Given the description of an element on the screen output the (x, y) to click on. 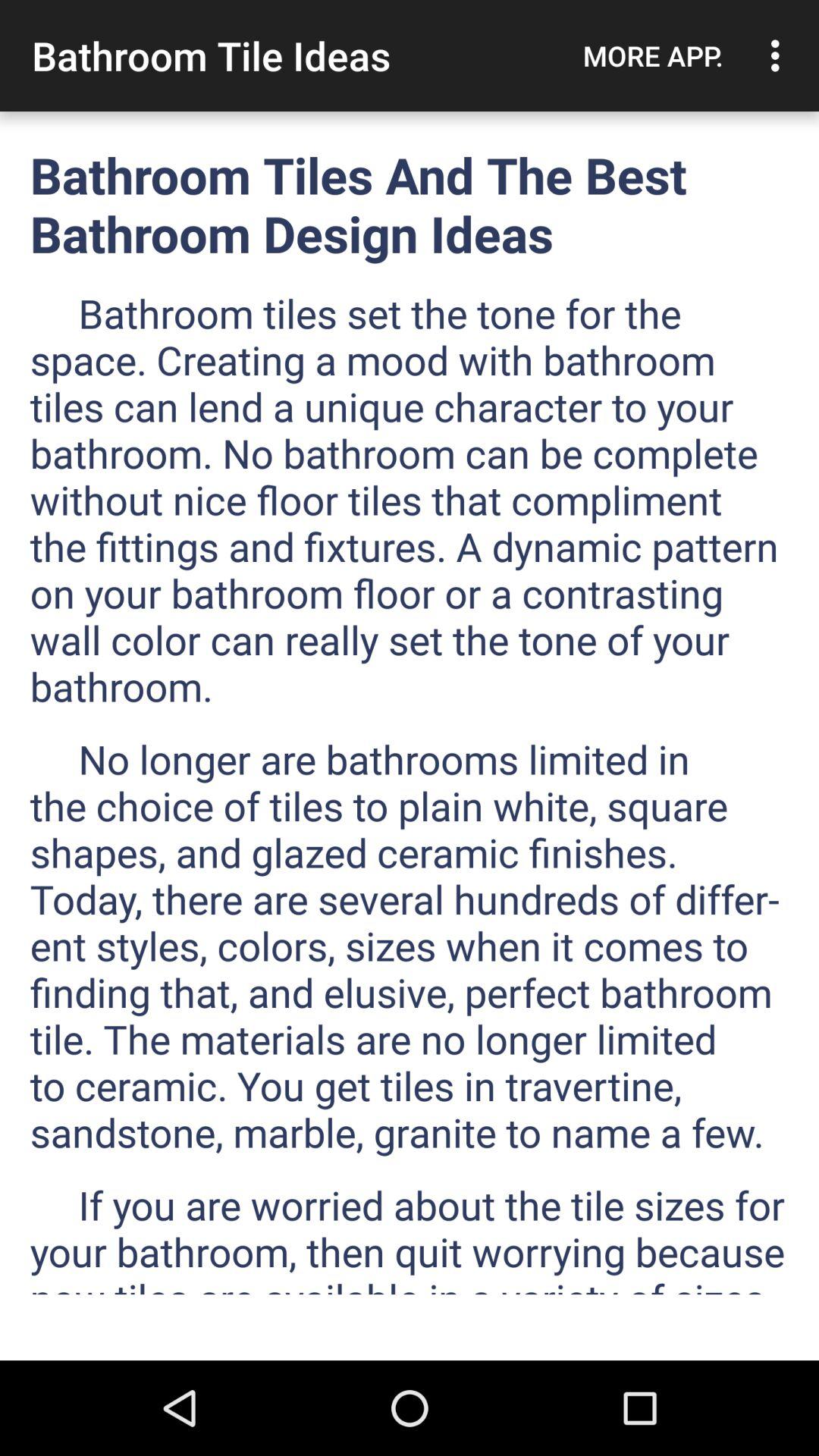
launch the item next to the more app. icon (779, 55)
